Given the description of an element on the screen output the (x, y) to click on. 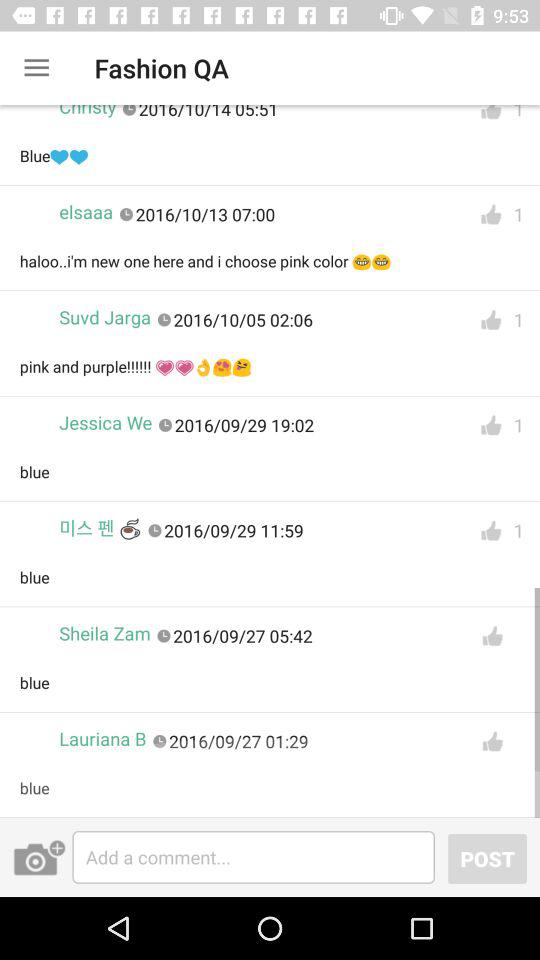
gives a like (491, 320)
